Given the description of an element on the screen output the (x, y) to click on. 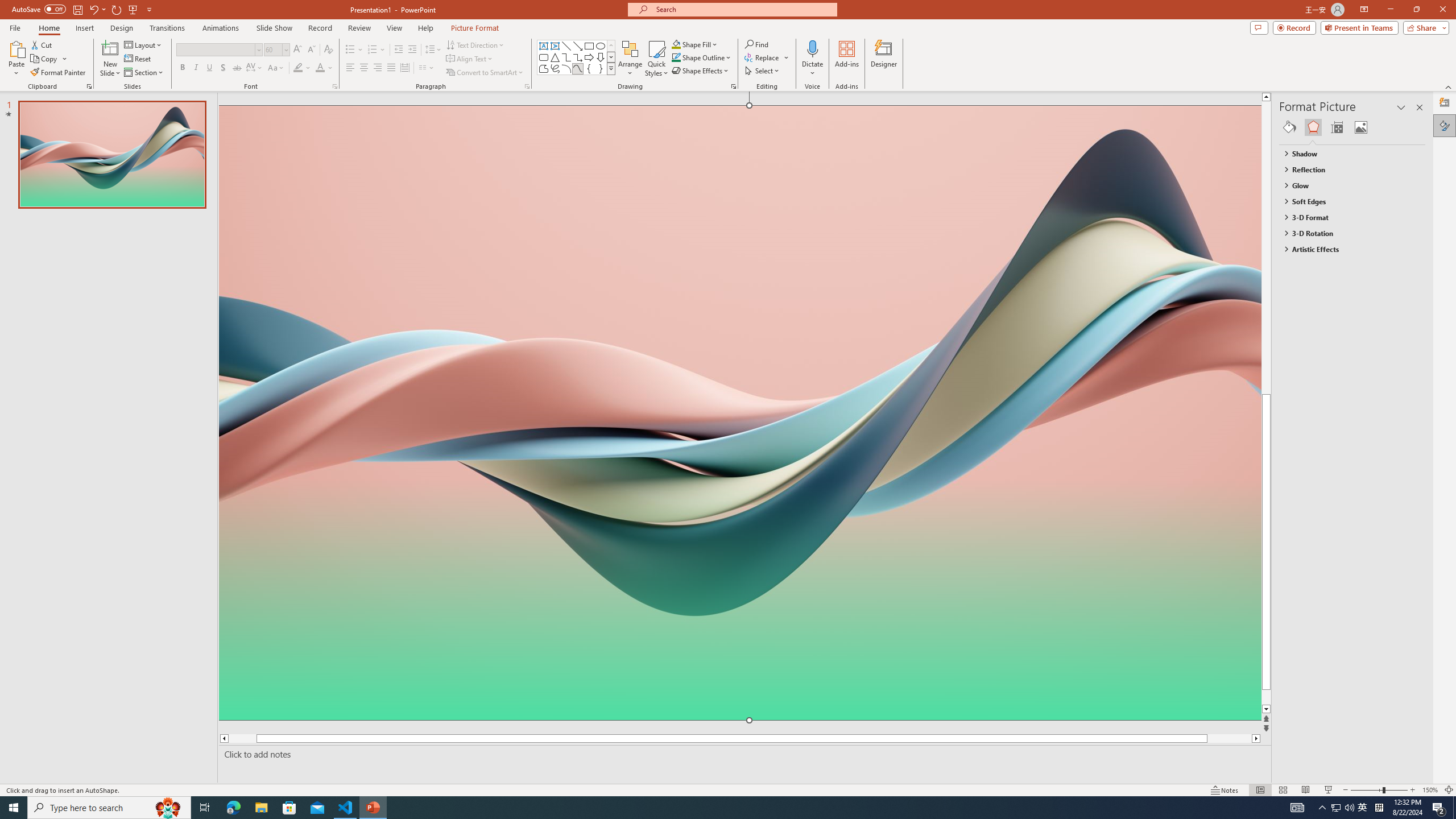
Reflection (1347, 169)
Glow (1347, 185)
Zoom 150% (1430, 790)
Picture (1361, 126)
Size & Properties (1336, 126)
